Given the description of an element on the screen output the (x, y) to click on. 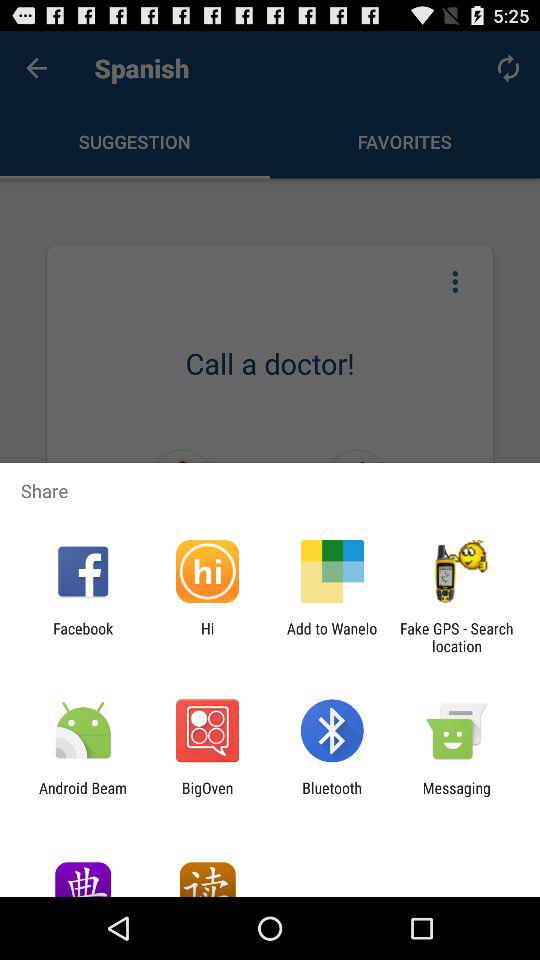
select item next to the bigoven (331, 796)
